Given the description of an element on the screen output the (x, y) to click on. 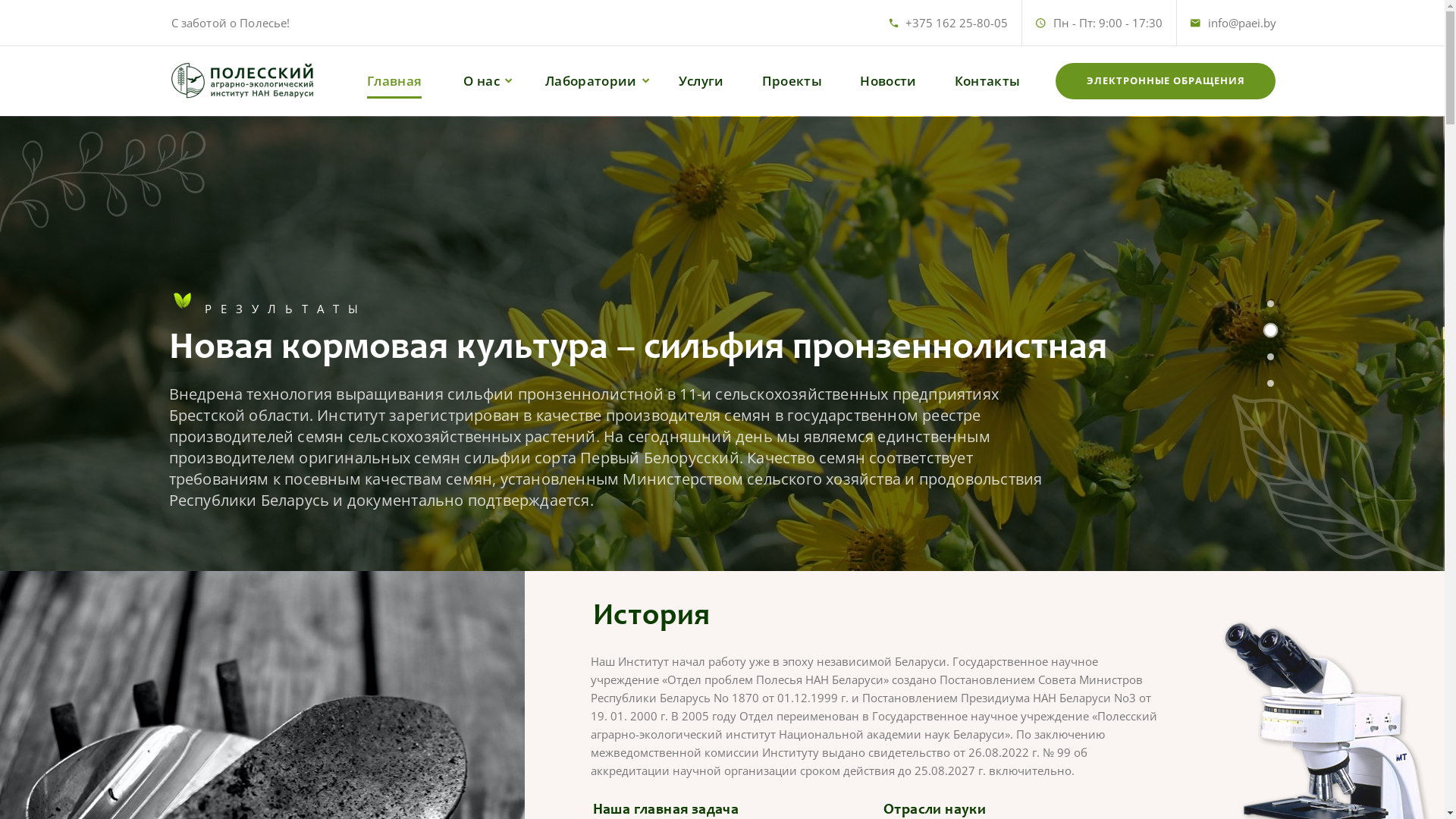
info@paei.by Element type: text (1241, 22)
+375 162 25-80-05 Element type: text (956, 22)
